Given the description of an element on the screen output the (x, y) to click on. 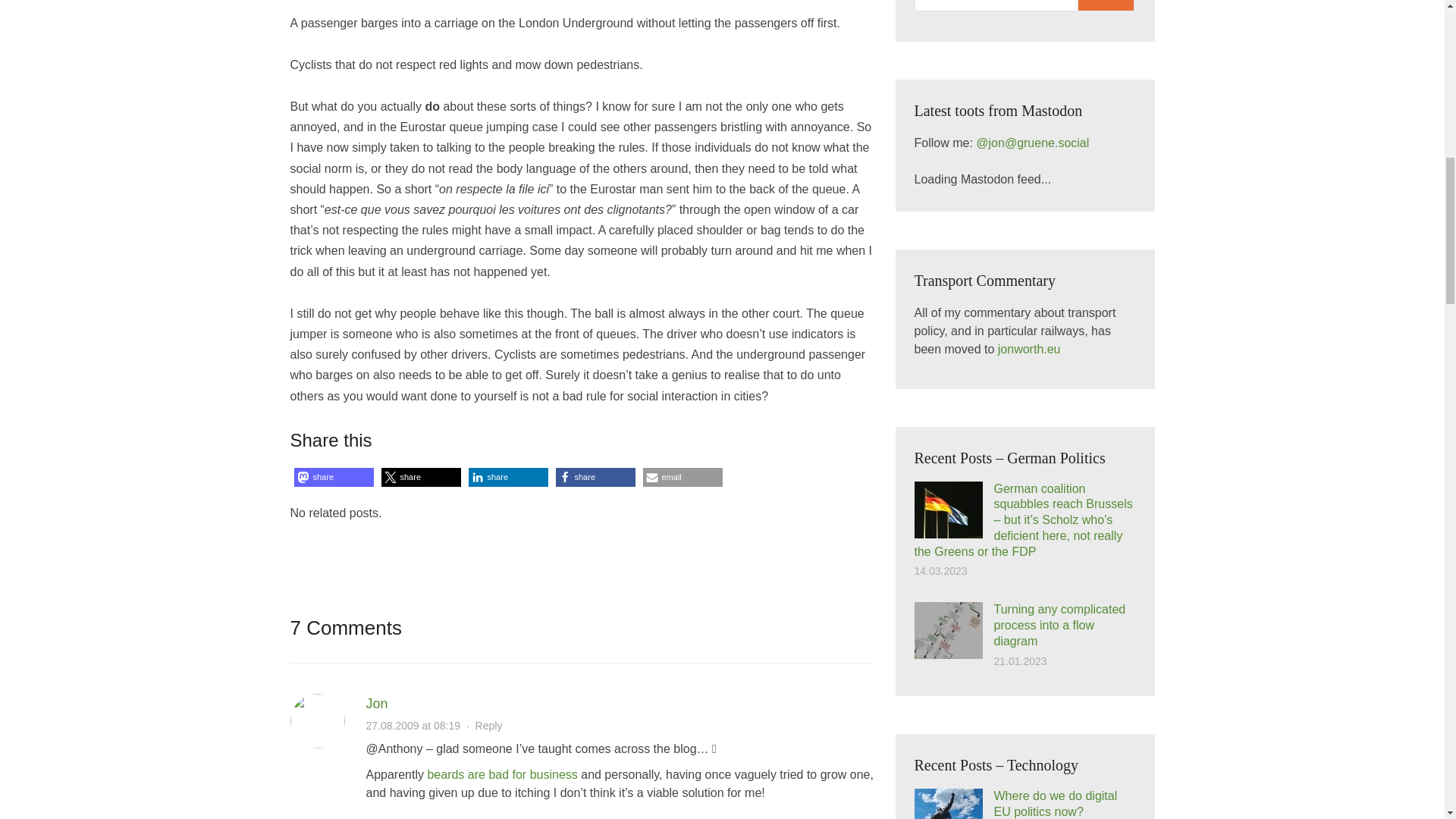
Share on Mastodon (334, 476)
Share on Facebook (594, 476)
Share on X (420, 476)
Send by email (682, 476)
Share on LinkedIn (508, 476)
Submit (1106, 5)
